Given the description of an element on the screen output the (x, y) to click on. 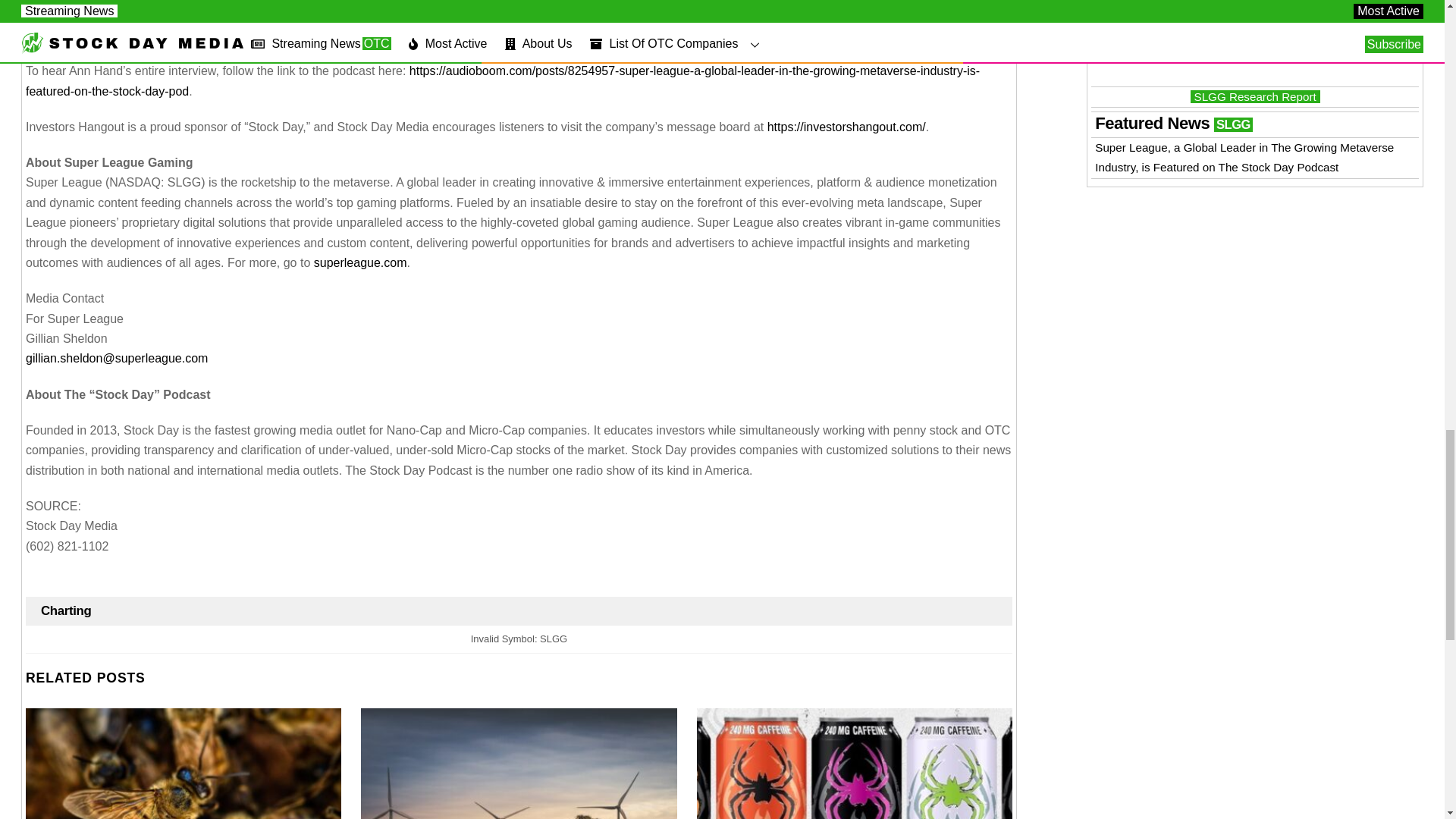
23725A77-EA43-4778-9076-6332E72D1370 (519, 763)
9EC372FC-9E69-4603-9035-DCB9597C0308 (183, 763)
110A6142-5E67-4939-8520-7E19D6A21649 (854, 763)
